Given the description of an element on the screen output the (x, y) to click on. 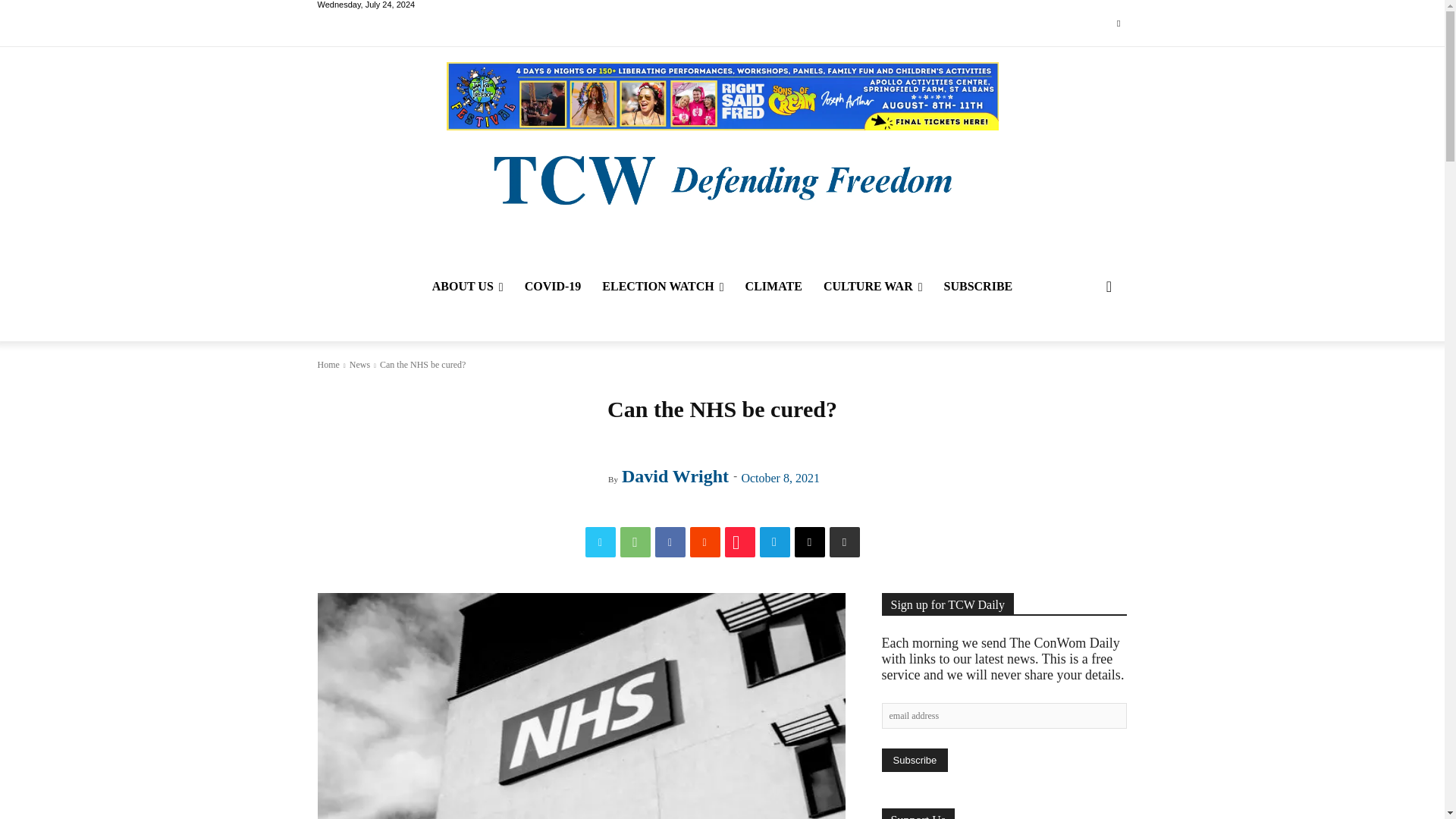
Telegram (775, 542)
CLIMATE (773, 286)
COVID-19 (552, 286)
Gettr (740, 542)
Subscribe (913, 760)
The Conservative Woman (721, 178)
Facebook (670, 542)
Twitter (600, 542)
WhatsApp (635, 542)
View all posts in News (359, 364)
Twitter (1117, 23)
ReddIt (705, 542)
ELECTION WATCH (662, 286)
ABOUT US (467, 286)
